Given the description of an element on the screen output the (x, y) to click on. 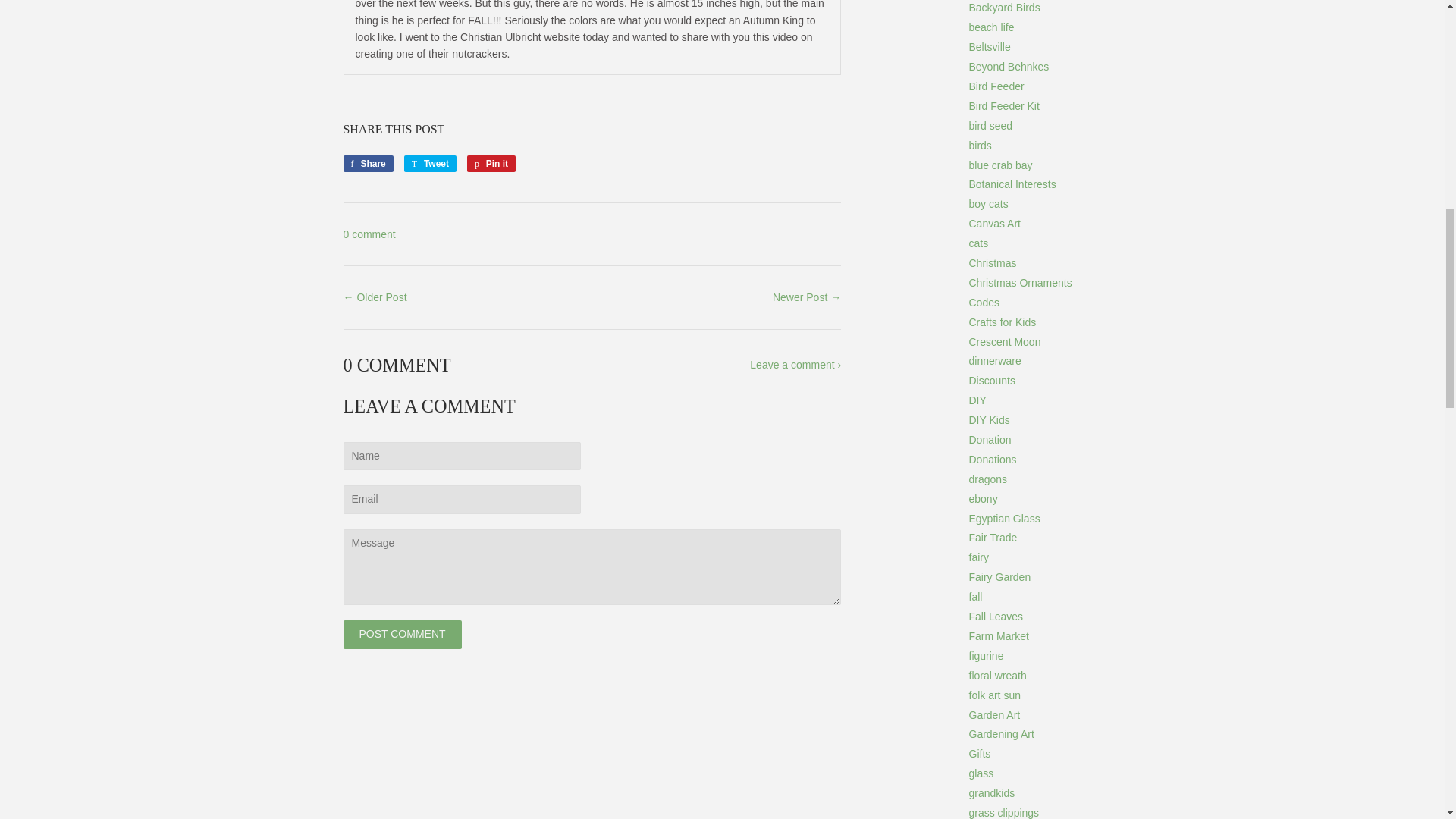
Show articles tagged Beltsville (989, 46)
Show articles tagged Backyard Birds (1005, 7)
Show articles tagged Bird Feeder (997, 86)
Post comment (401, 634)
Share on Facebook (367, 163)
Show articles tagged Beyond Behnkes (1009, 66)
Show articles tagged beach life (991, 27)
Show articles tagged Bird Feeder Kit (1004, 105)
Show articles tagged bird seed (991, 125)
Tweet on Twitter (430, 163)
Pin on Pinterest (491, 163)
